Given the description of an element on the screen output the (x, y) to click on. 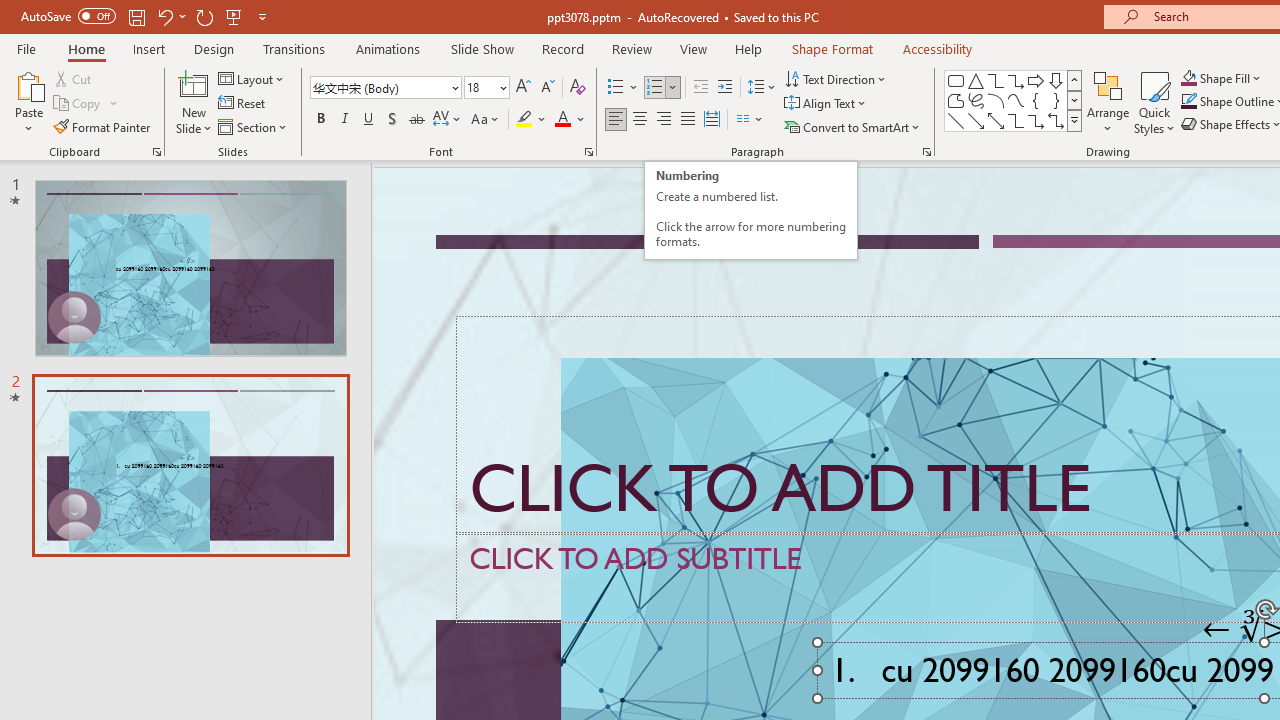
Shape Format (832, 48)
Bold (320, 119)
Line Spacing (762, 87)
Freeform: Scribble (975, 100)
Layout (252, 78)
Increase Indent (725, 87)
Paragraph... (926, 151)
Decrease Indent (700, 87)
